Given the description of an element on the screen output the (x, y) to click on. 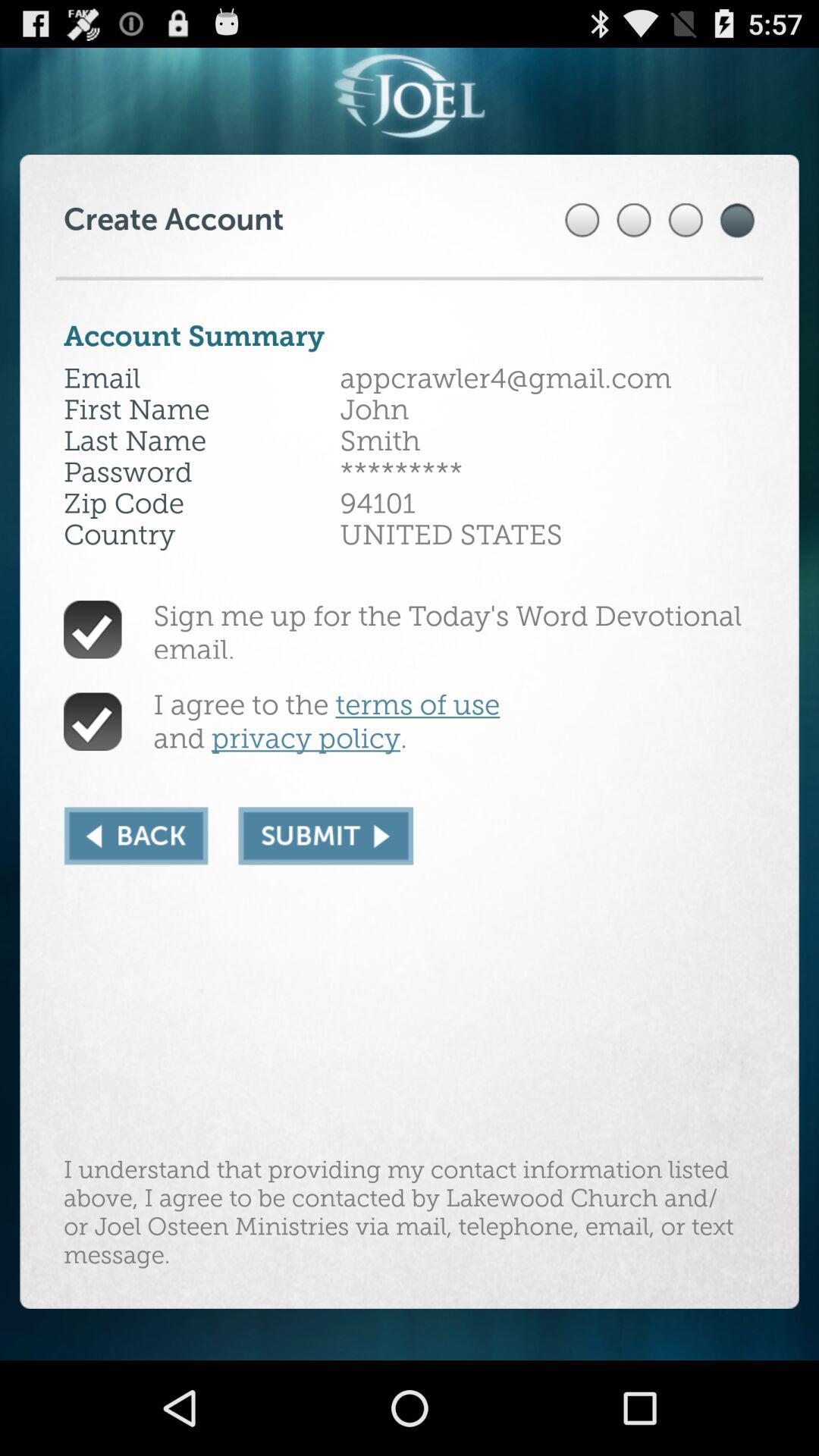
uncheck (92, 721)
